Given the description of an element on the screen output the (x, y) to click on. 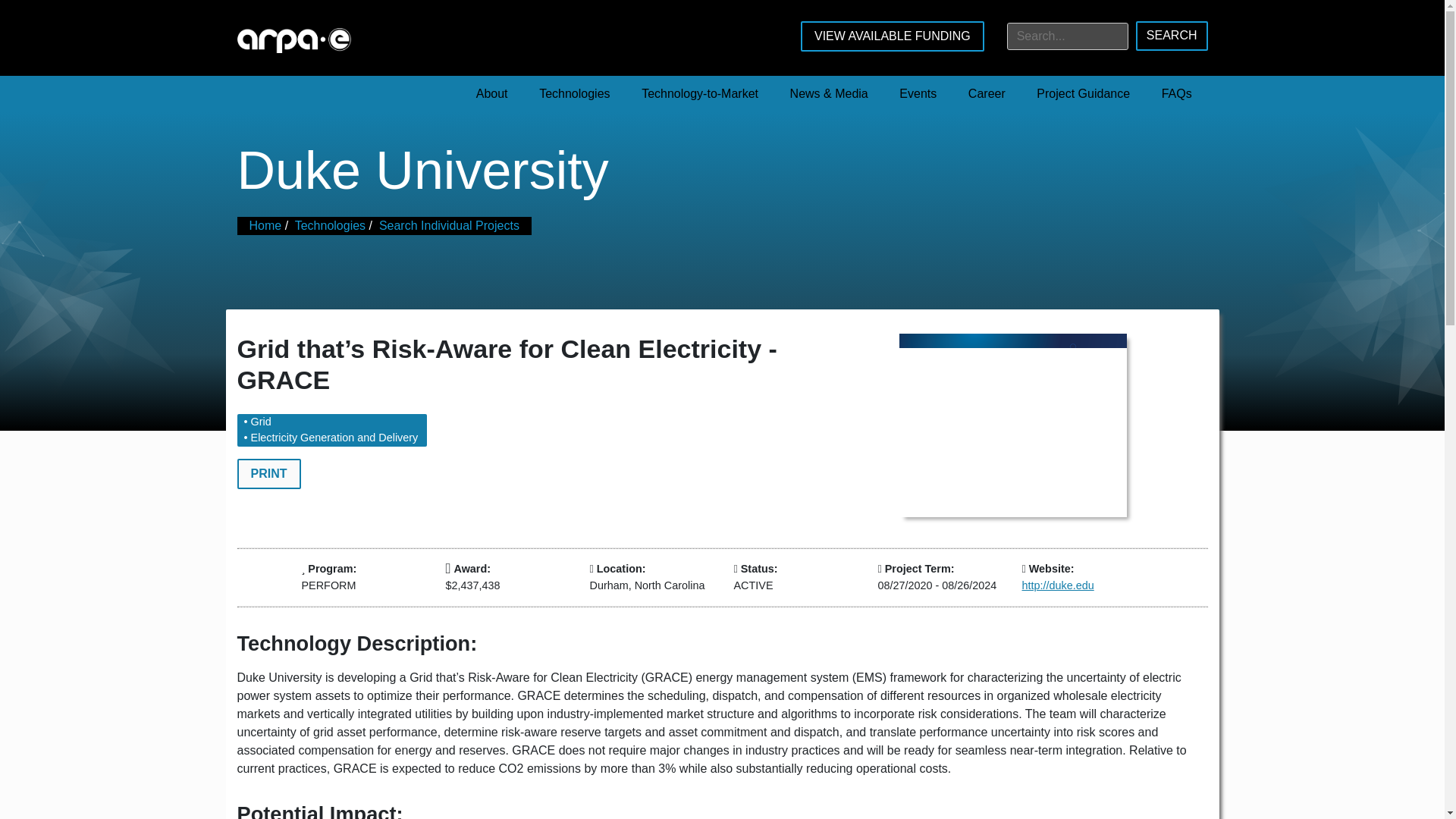
Technologies (574, 94)
Technology-to-Market (699, 94)
VIEW AVAILABLE FUNDING (892, 36)
Events (918, 94)
Search (1171, 35)
Search (1171, 35)
About (491, 94)
Print (267, 473)
